Given the description of an element on the screen output the (x, y) to click on. 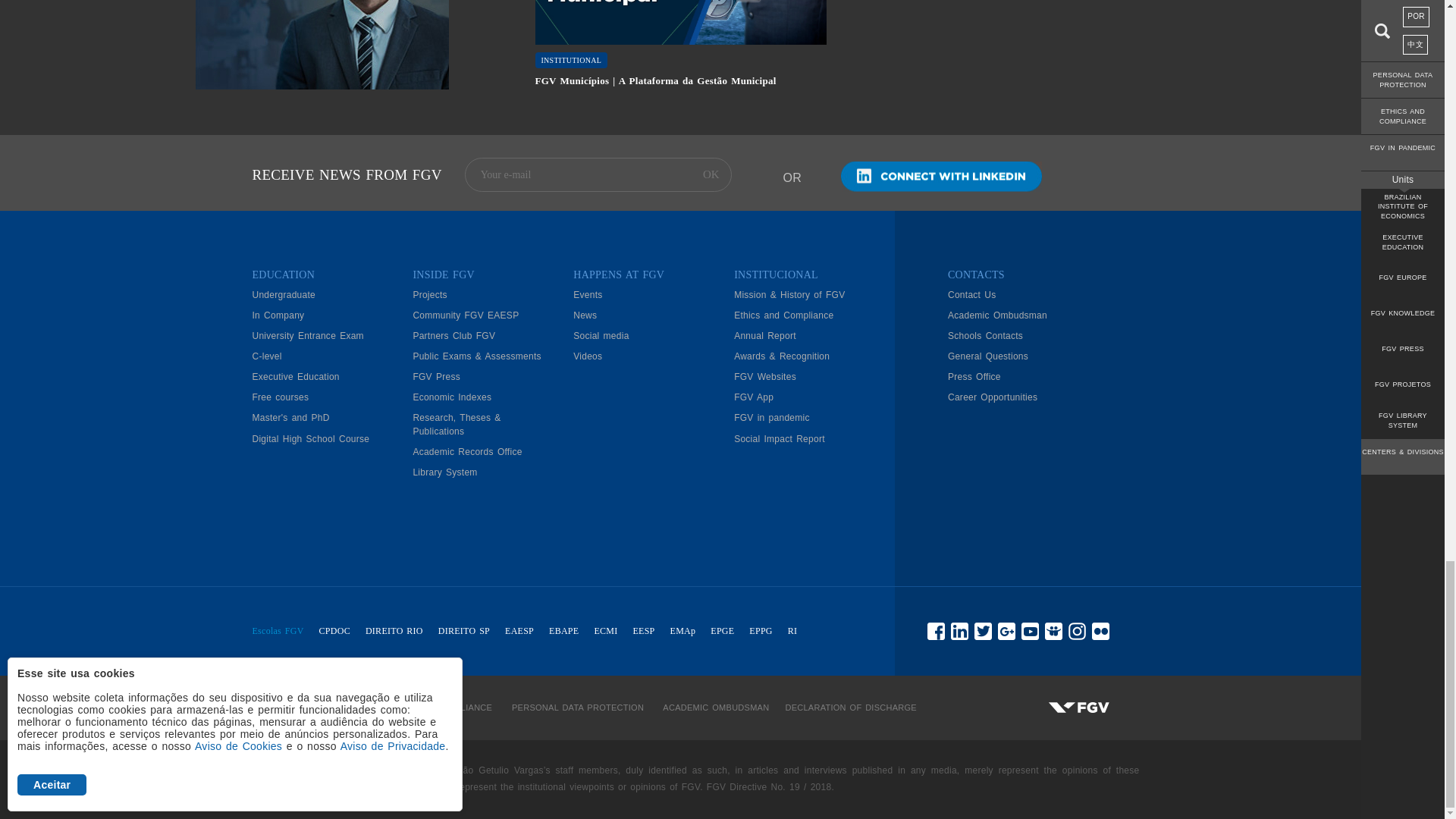
LinkedIn (940, 176)
ok (710, 174)
